Given the description of an element on the screen output the (x, y) to click on. 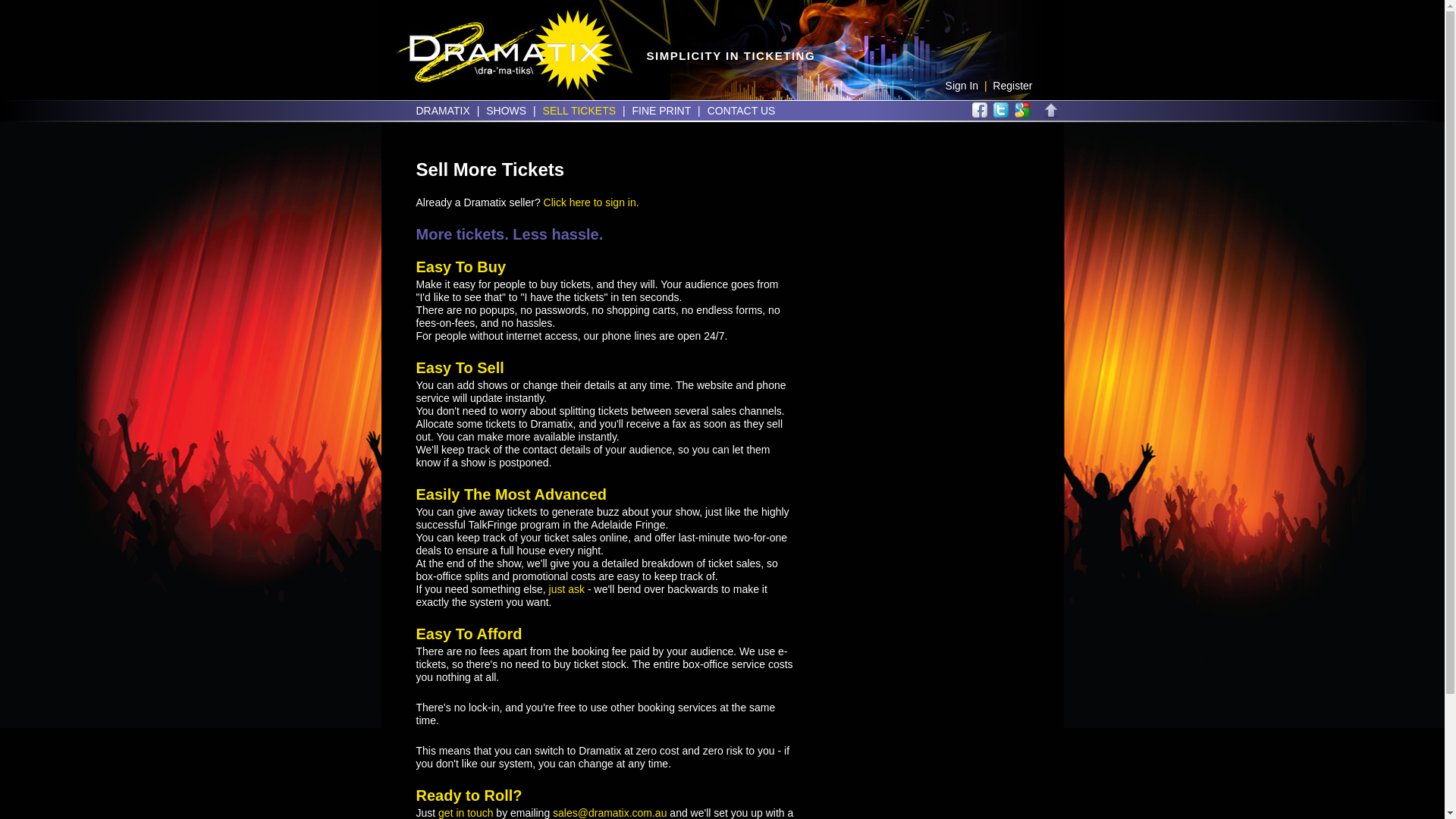
Click here to sign in. Element type: text (591, 202)
SELL TICKETS Element type: text (579, 110)
Sign In Element type: text (962, 85)
CONTACT US Element type: text (741, 110)
just ask Element type: text (566, 589)
FINE PRINT Element type: text (660, 110)
SHOWS Element type: text (506, 110)
DRAMATIX Element type: text (442, 110)
Register Element type: text (1012, 85)
